Given the description of an element on the screen output the (x, y) to click on. 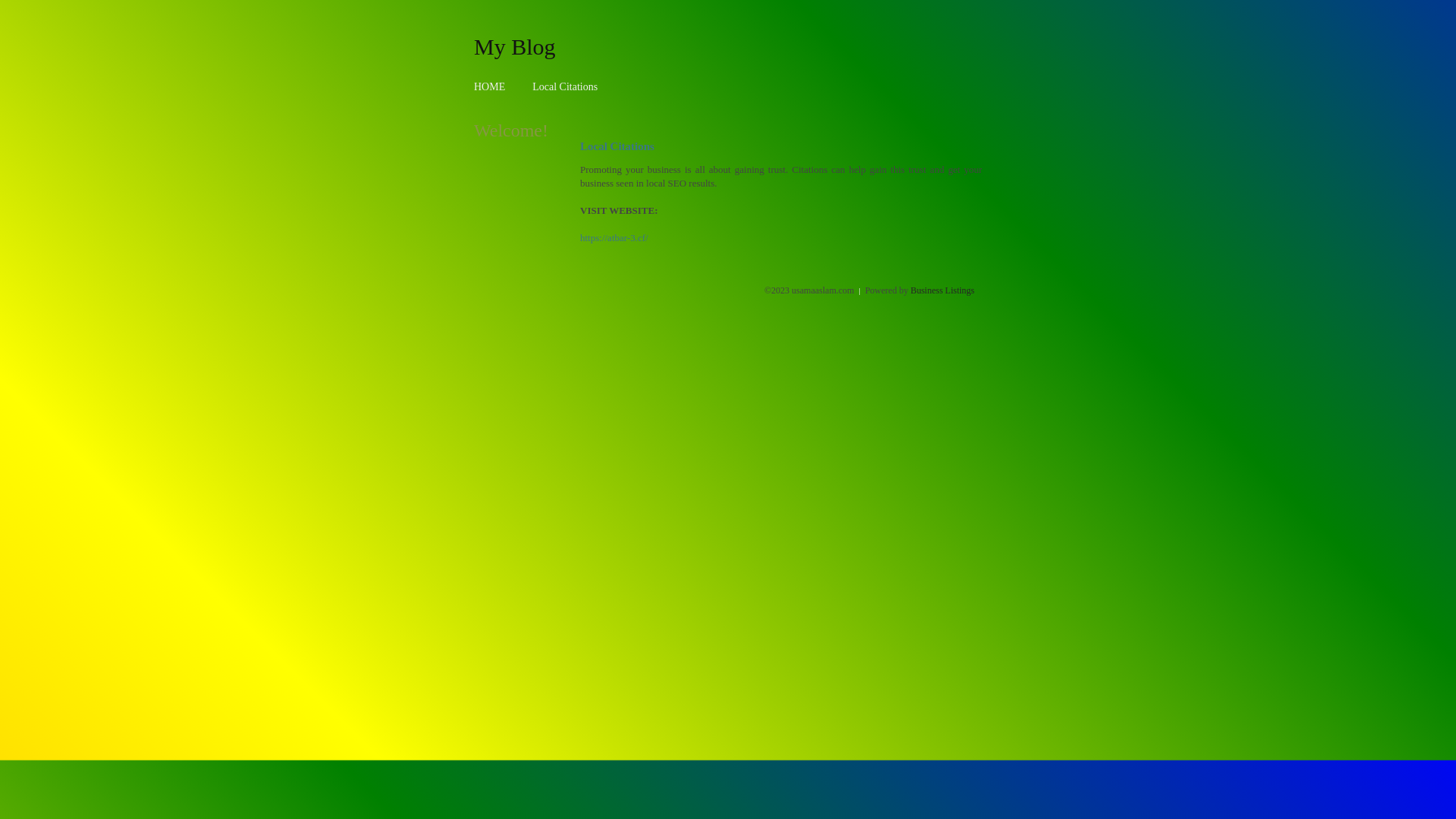
HOME Element type: text (489, 86)
My Blog Element type: text (514, 46)
Business Listings Element type: text (942, 290)
https://atbar-3.cf/ Element type: text (614, 237)
Local Citations Element type: text (564, 86)
